Given the description of an element on the screen output the (x, y) to click on. 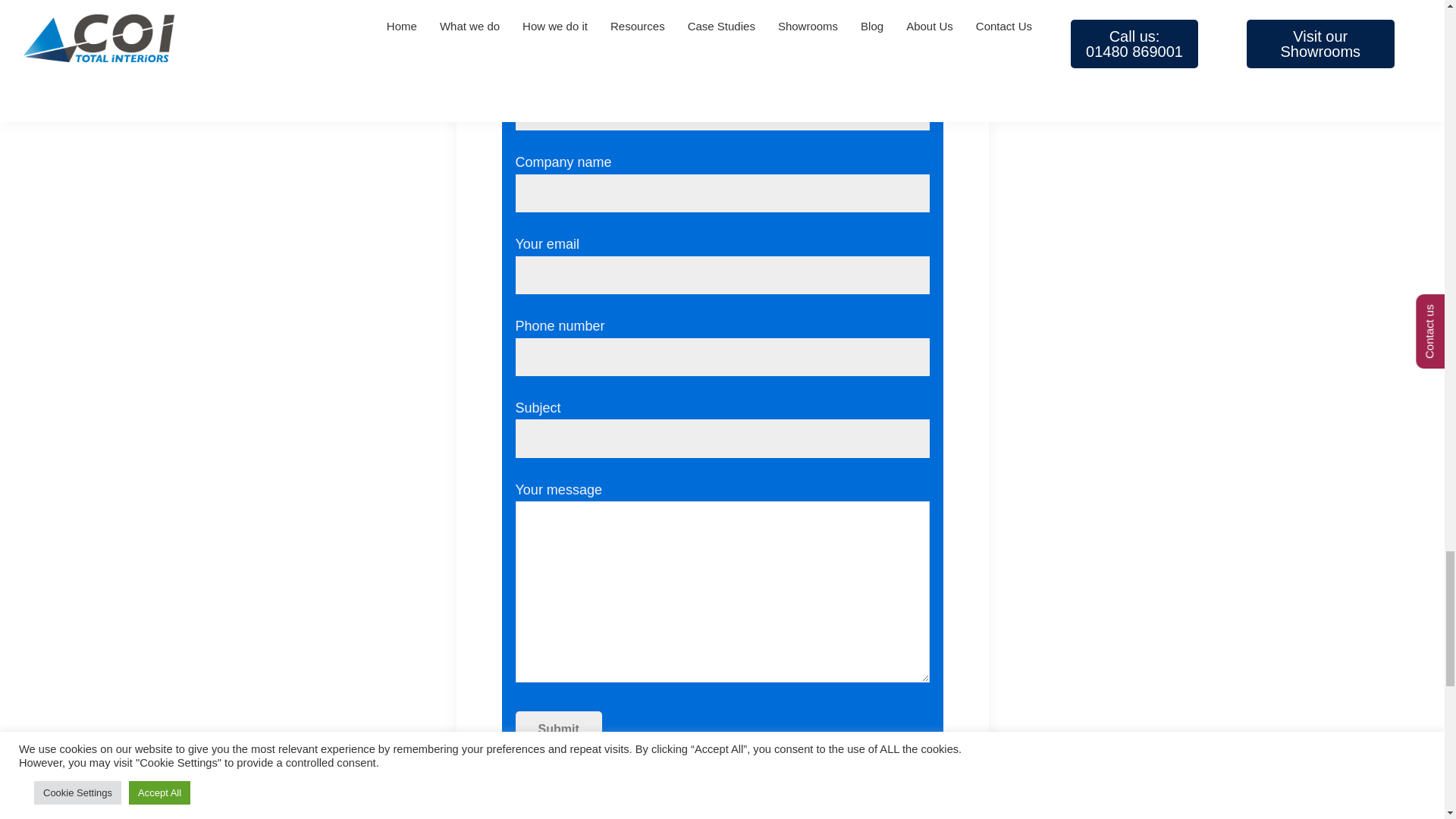
Submit (558, 729)
